Given the description of an element on the screen output the (x, y) to click on. 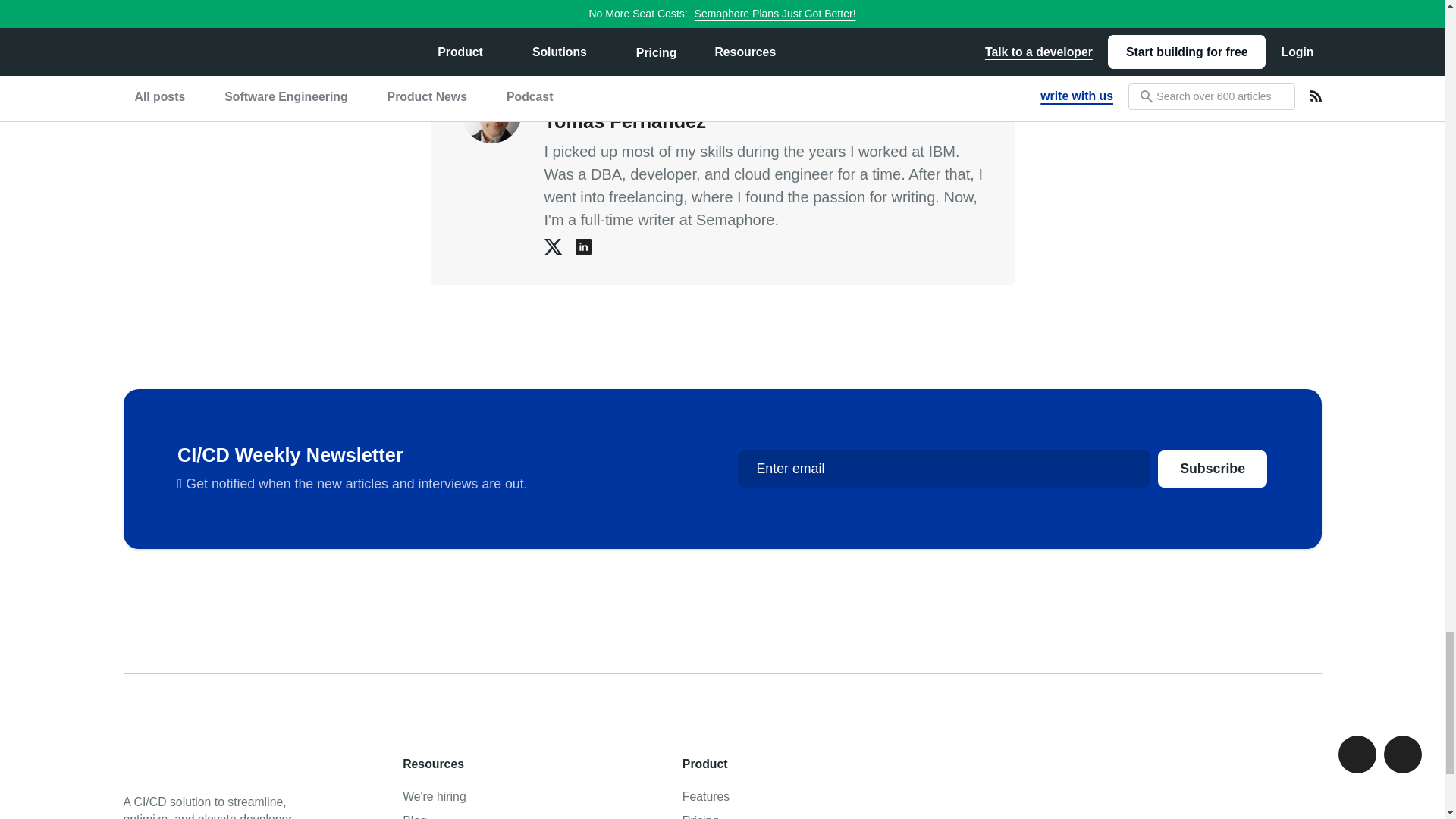
Subscribe (1211, 468)
